Given the description of an element on the screen output the (x, y) to click on. 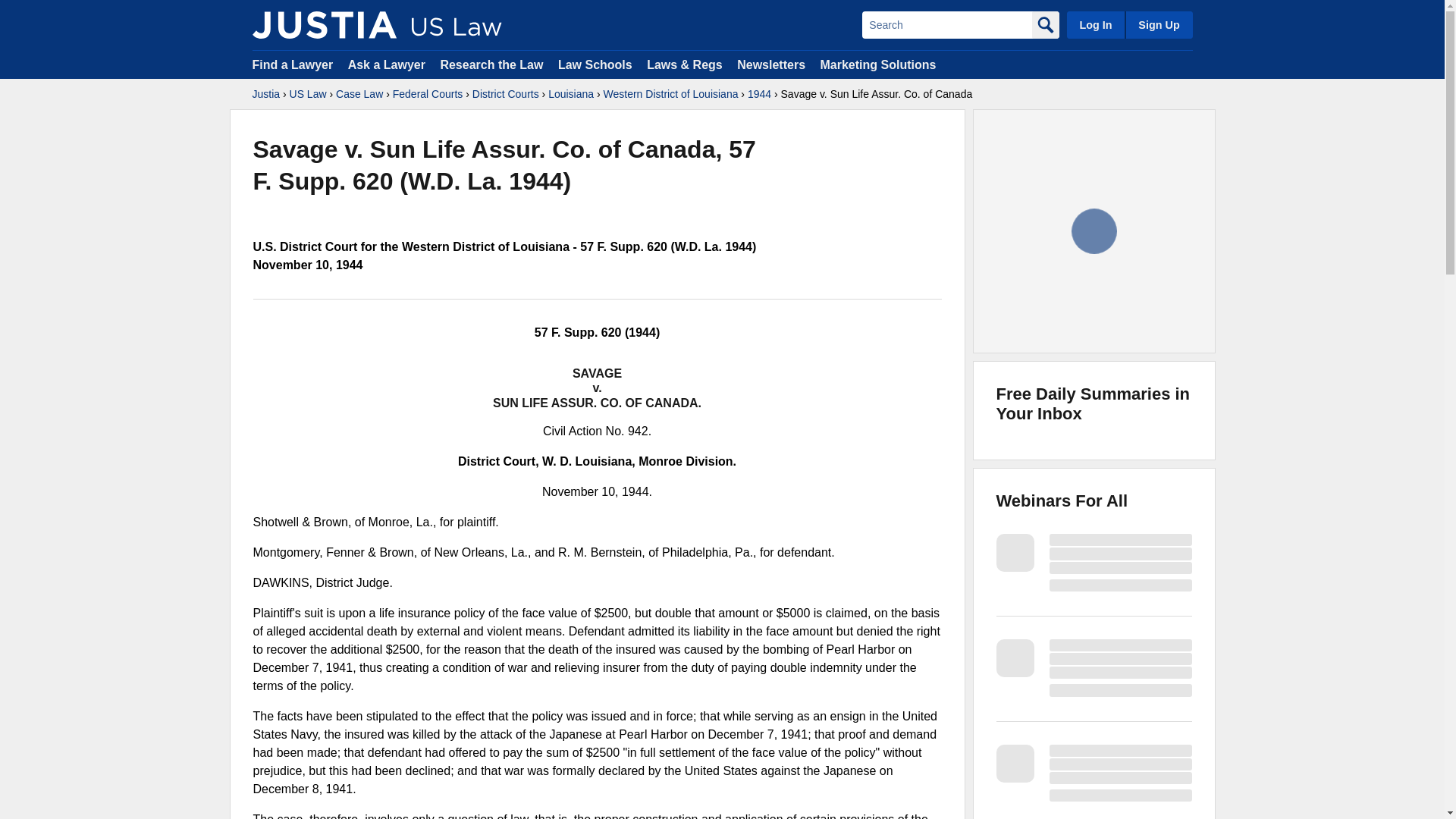
Find a Lawyer (292, 64)
Log In (1094, 24)
Justia (323, 24)
Case Law (359, 93)
Western District of Louisiana (671, 93)
Newsletters (770, 64)
District Courts (504, 93)
Louisiana (571, 93)
Ask a Lawyer (388, 64)
Law Schools (594, 64)
Justia (265, 93)
Federal Courts (428, 93)
Research the Law (491, 64)
1944 (759, 93)
US Law (307, 93)
